Given the description of an element on the screen output the (x, y) to click on. 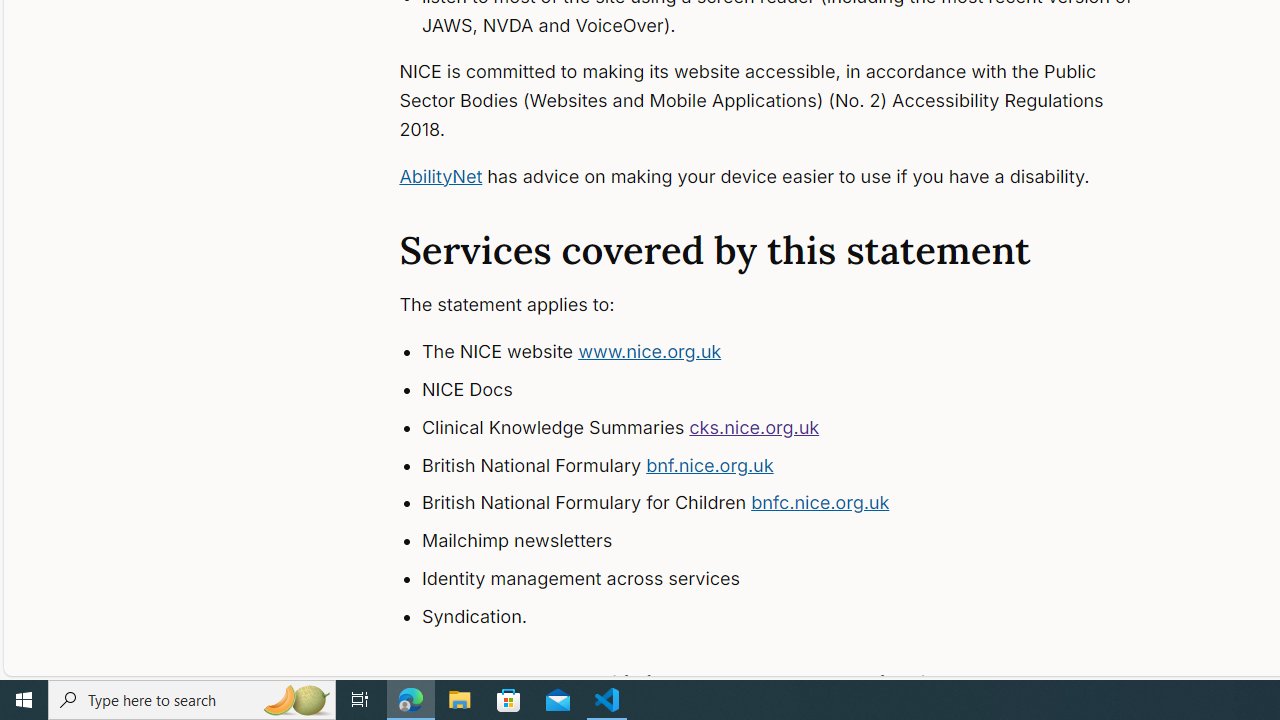
Identity management across services (796, 578)
bnf.nice.org.uk (710, 464)
www.nice.org.uk (649, 351)
The NICE website www.nice.org.uk (796, 352)
AbilityNet (440, 175)
bnfc.nice.org.uk (820, 502)
British National Formulary for Children bnfc.nice.org.uk (796, 503)
Syndication. (796, 616)
Clinical Knowledge Summaries cks.nice.org.uk (796, 427)
Mailchimp newsletters (796, 541)
British National Formulary bnf.nice.org.uk (796, 465)
cks.nice.org.uk (754, 426)
NICE Docs (796, 389)
